Given the description of an element on the screen output the (x, y) to click on. 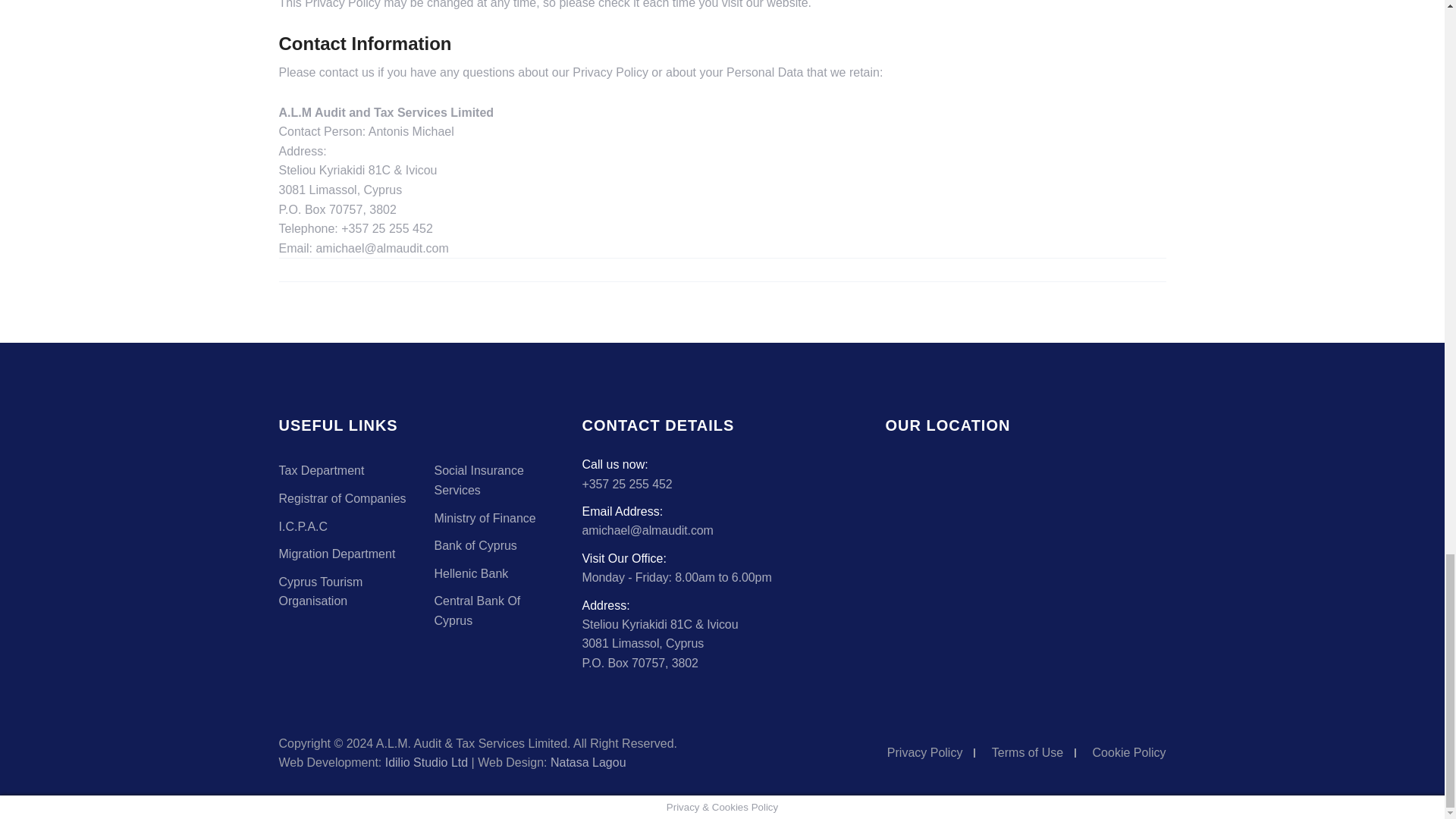
Social Insurance Services (477, 480)
Natasa Lagou (588, 762)
Migration Department (337, 553)
Privacy Policy (924, 752)
Central Bank Of Cyprus (476, 610)
Registrar of Companies (342, 498)
Tax Department (322, 470)
Terms of Use (1026, 752)
Ministry of Finance (484, 517)
Hellenic Bank (470, 573)
